Given the description of an element on the screen output the (x, y) to click on. 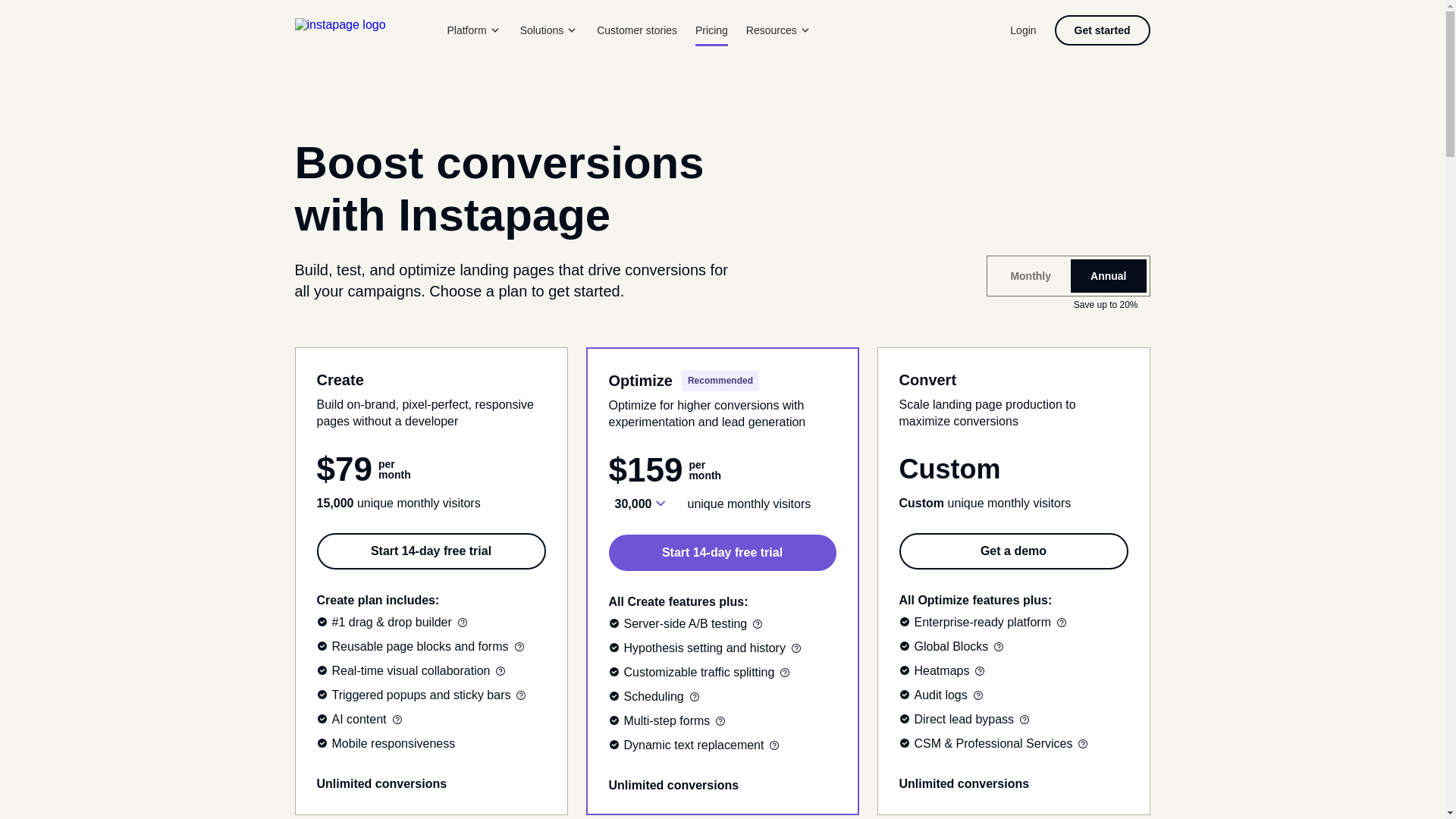
Customer stories (636, 30)
Get started (1102, 30)
Pricing (711, 30)
Login (1022, 30)
